Given the description of an element on the screen output the (x, y) to click on. 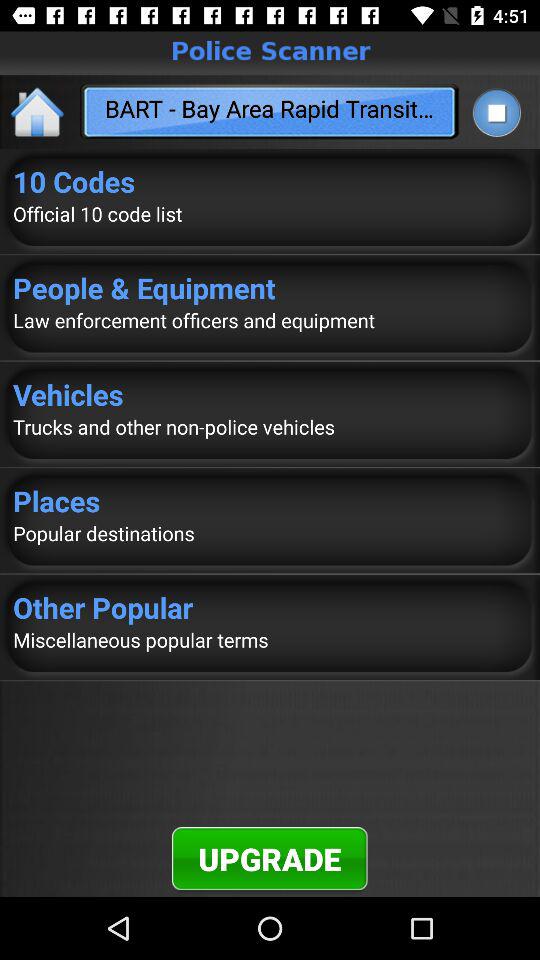
stop track (496, 111)
